Given the description of an element on the screen output the (x, y) to click on. 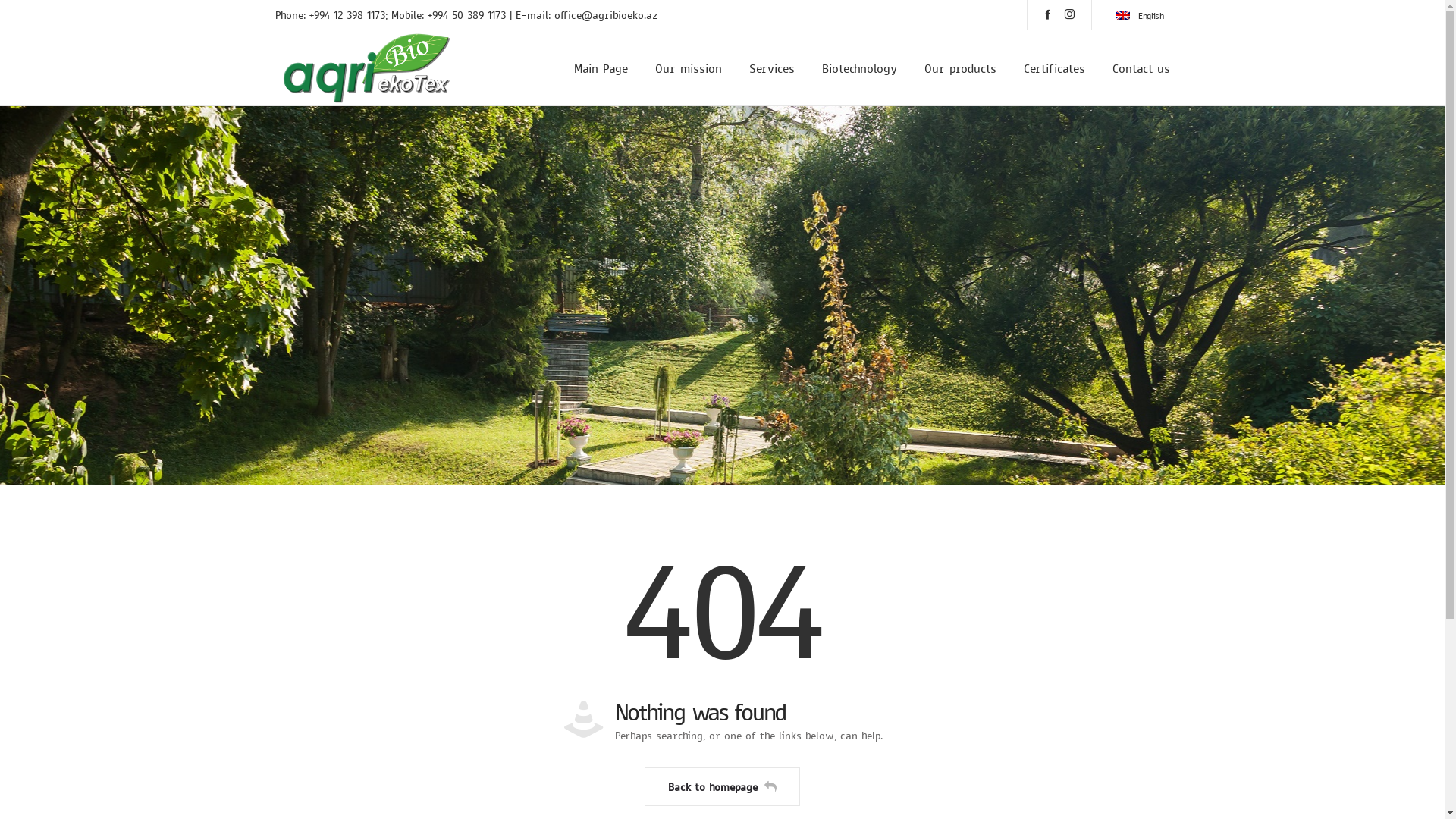
Certificates Element type: text (1054, 67)
Our products Element type: text (959, 67)
Services Element type: text (771, 67)
Instagram Element type: hover (1069, 13)
Biotechnology Element type: text (859, 67)
Back to homepage Element type: text (722, 786)
Our mission Element type: text (688, 67)
Site logo Element type: hover (367, 68)
Contact us Element type: text (1140, 67)
Facebook Element type: hover (1047, 13)
English Element type: text (1139, 15)
Main Page Element type: text (600, 67)
Search Element type: text (1071, 412)
